Given the description of an element on the screen output the (x, y) to click on. 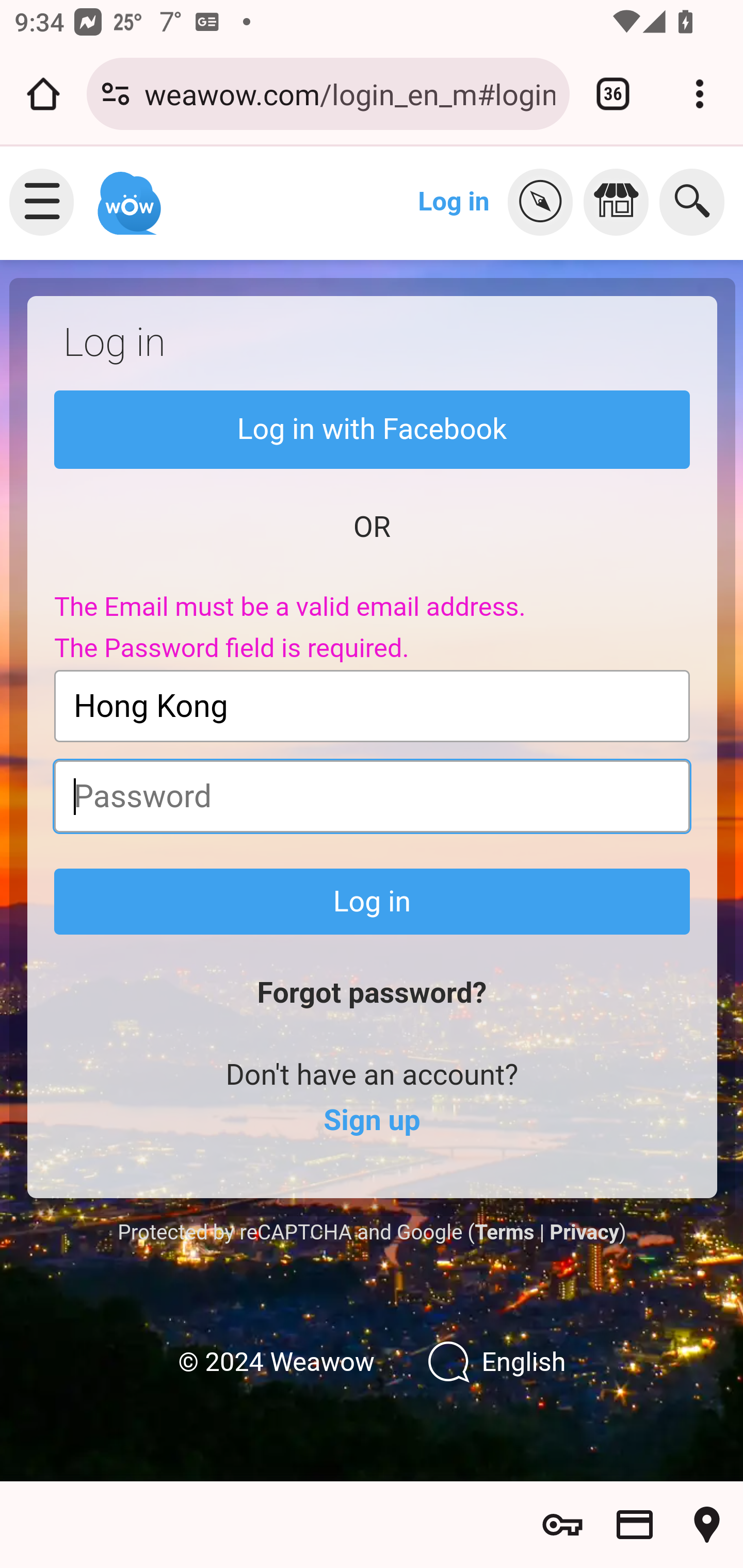
Open the home page (43, 93)
Connection is secure (115, 93)
Switch or close tabs (612, 93)
Customize and control Google Chrome (699, 93)
weawow.com/login_en_m#login (349, 92)
Weawow (127, 194)
 (545, 201)
 (621, 201)
Log in (453, 201)
Hong Kong (372, 706)
Log in (372, 902)
Forgot password? (371, 993)
Sign up (371, 1120)
Terms (503, 1231)
Privacy (583, 1231)
© 2024 Weawow (275, 1362)
Show saved passwords and password options (562, 1524)
Show saved payment methods (634, 1524)
Show saved addresses (706, 1524)
